Given the description of an element on the screen output the (x, y) to click on. 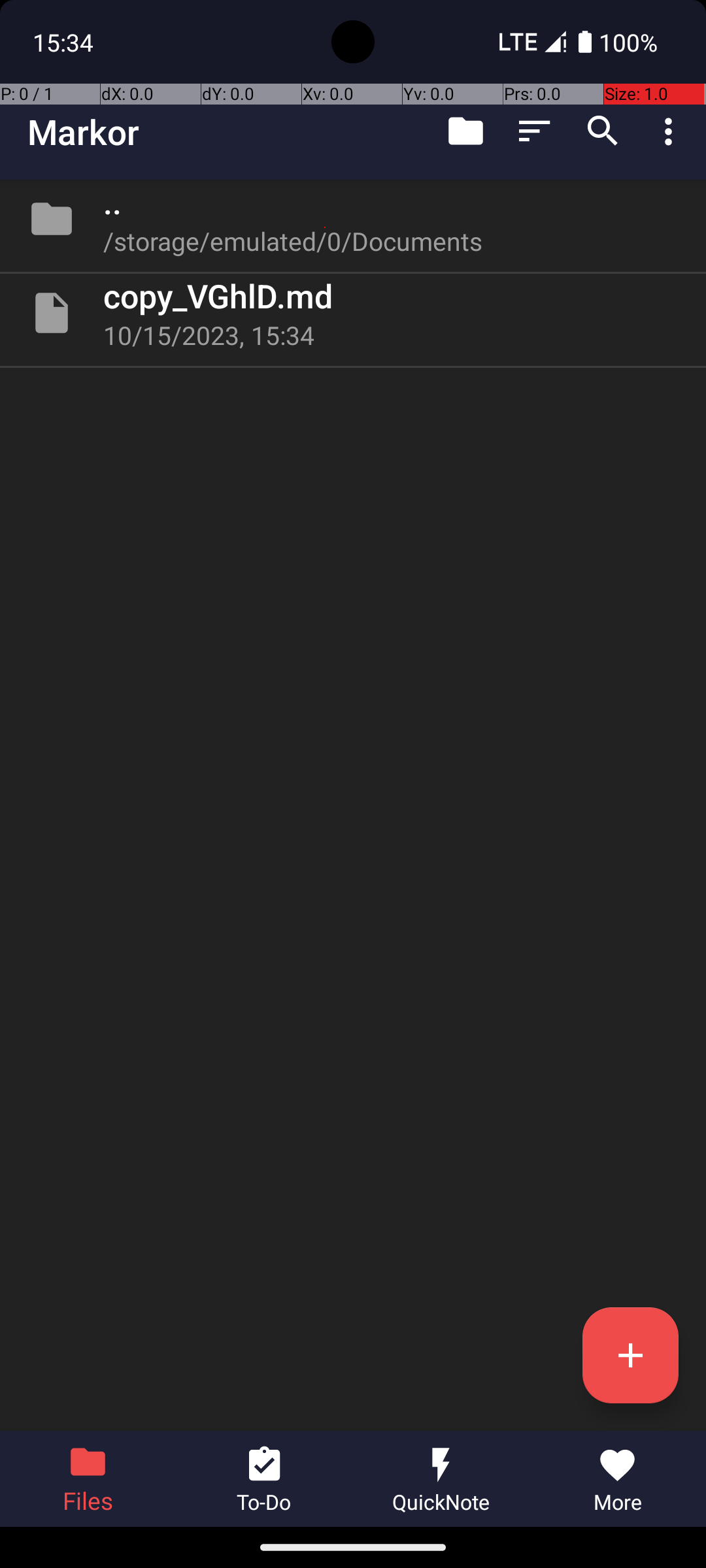
File copy_VGhlD.md  Element type: android.widget.LinearLayout (353, 312)
